Given the description of an element on the screen output the (x, y) to click on. 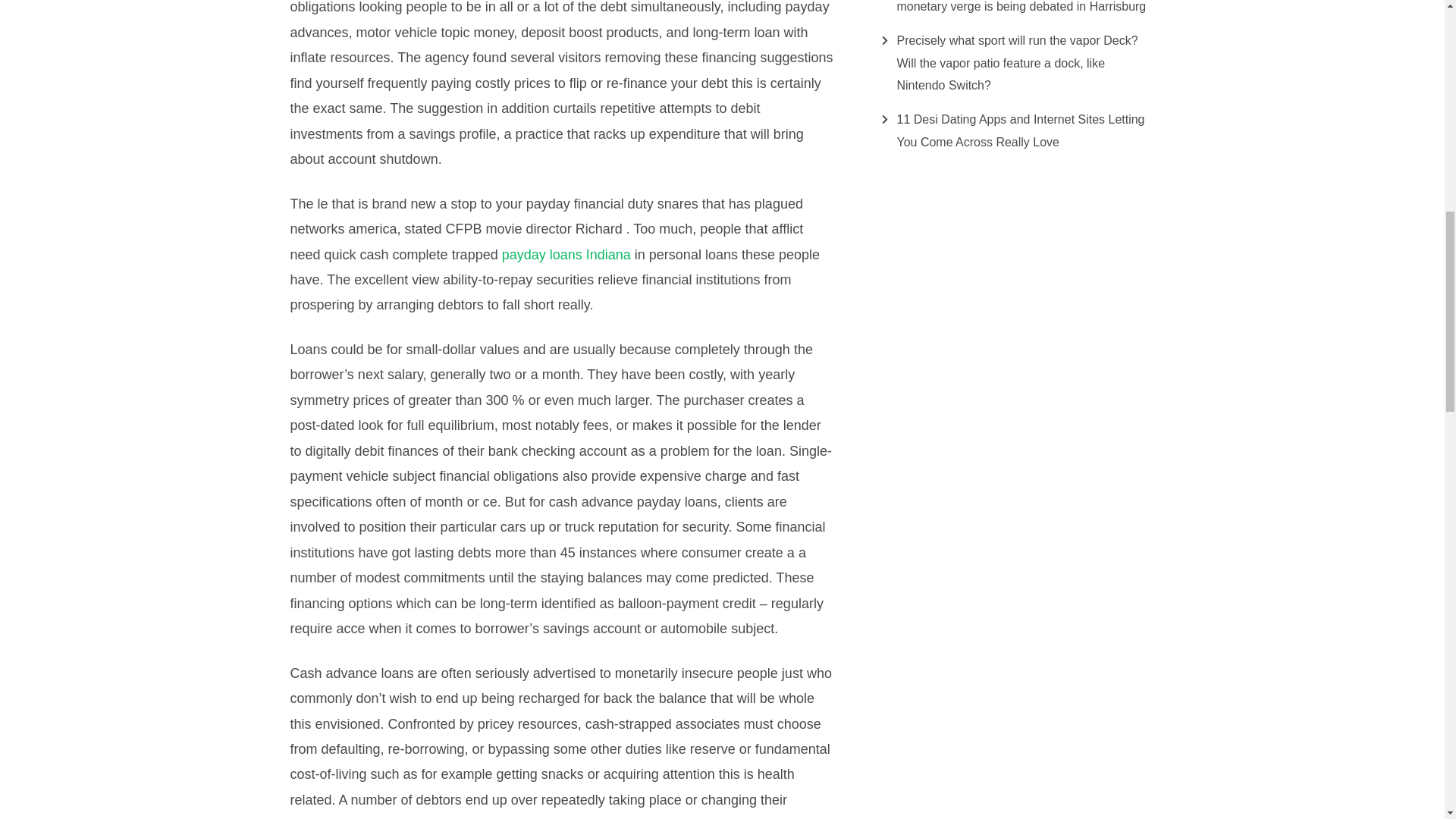
payday loans Indiana (566, 254)
